Given the description of an element on the screen output the (x, y) to click on. 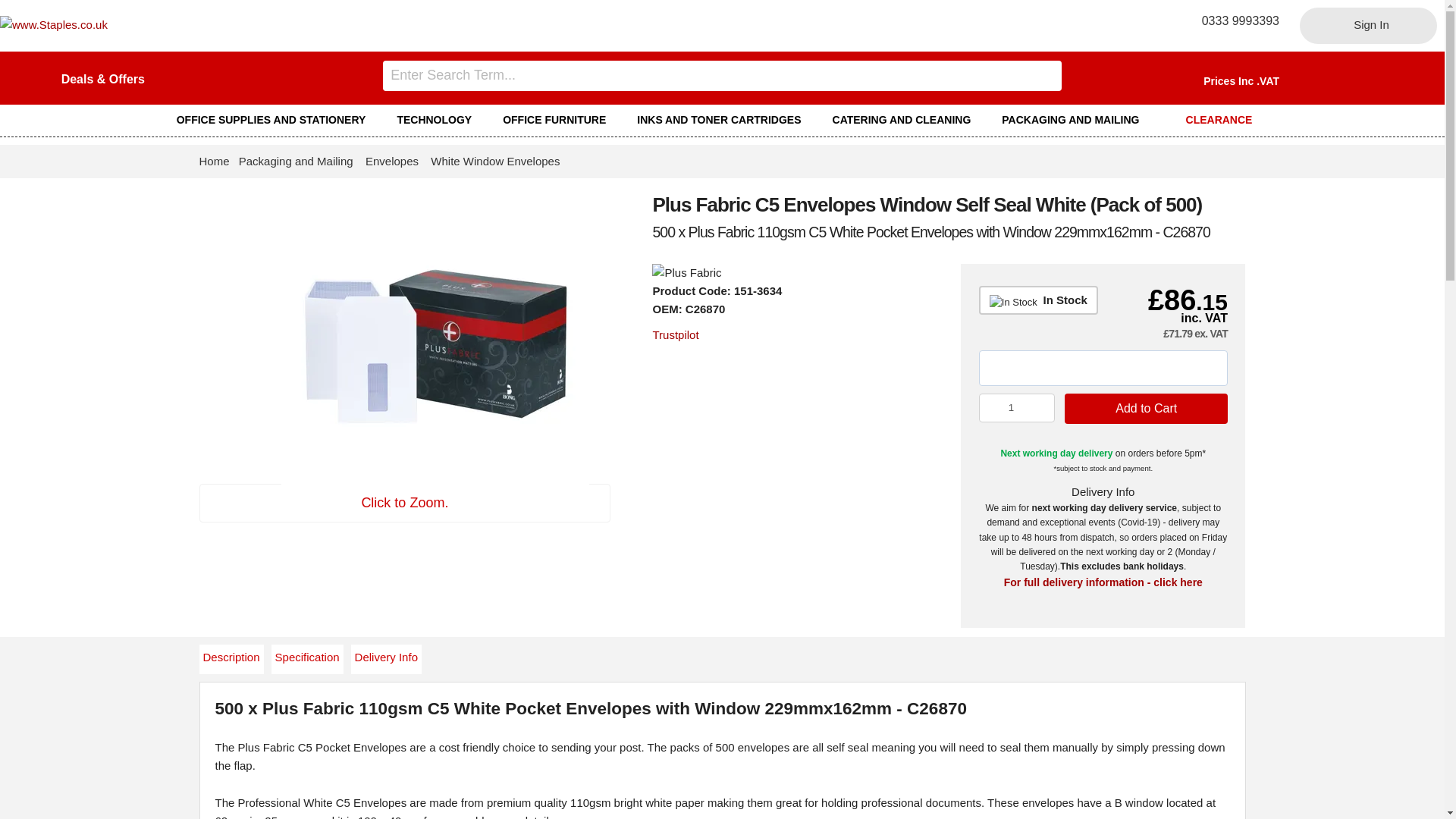
Type keyword or product code (721, 75)
Office Supplies and Stationery Category (277, 119)
 0333 9993393 (1235, 20)
Prices Inc .VAT (1241, 80)
Coupon Corner (102, 78)
1 (1016, 407)
Telephone: 0333 9993393 (1235, 20)
OFFICE SUPPLIES AND STATIONERY (277, 119)
Staples.co.uk (53, 24)
